Given the description of an element on the screen output the (x, y) to click on. 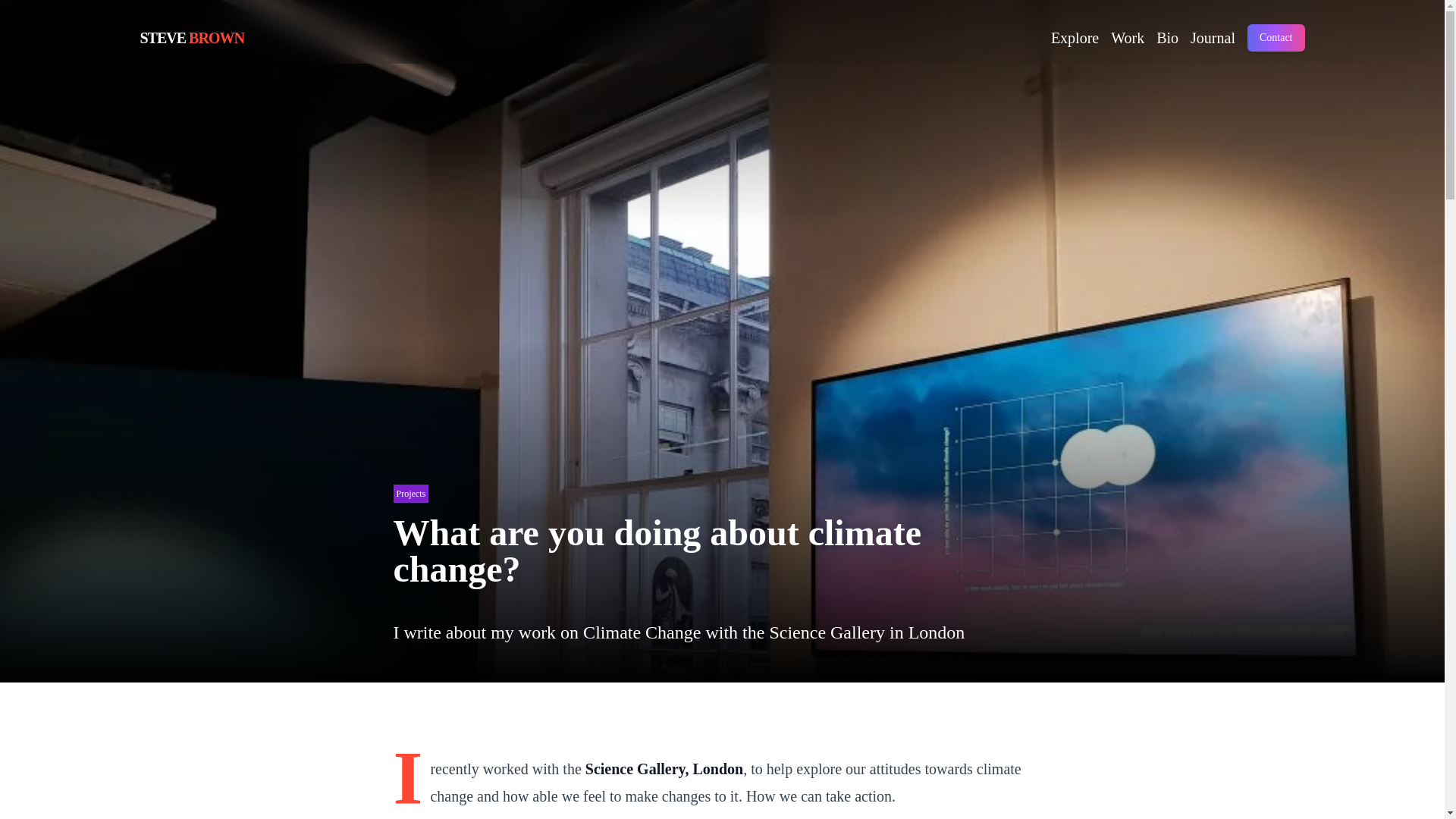
Explore (1075, 37)
Journal (1212, 37)
Bio (1166, 37)
Work (184, 37)
Contact (1127, 37)
